Given the description of an element on the screen output the (x, y) to click on. 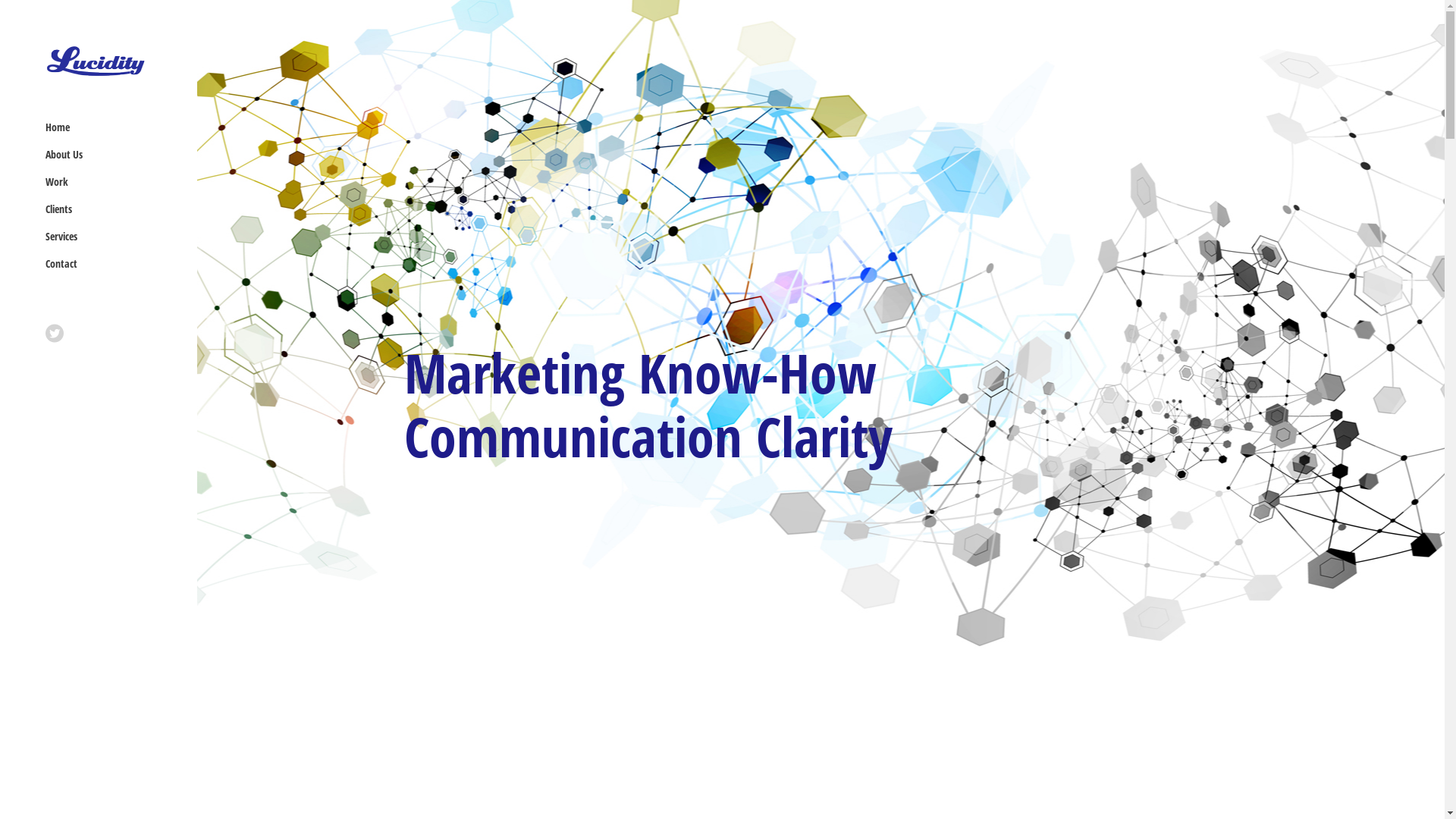
About Us Element type: text (105, 154)
Clients Element type: text (105, 208)
Contact Element type: text (105, 263)
Work Element type: text (105, 181)
Home Element type: text (105, 127)
Services Element type: text (105, 236)
